Given the description of an element on the screen output the (x, y) to click on. 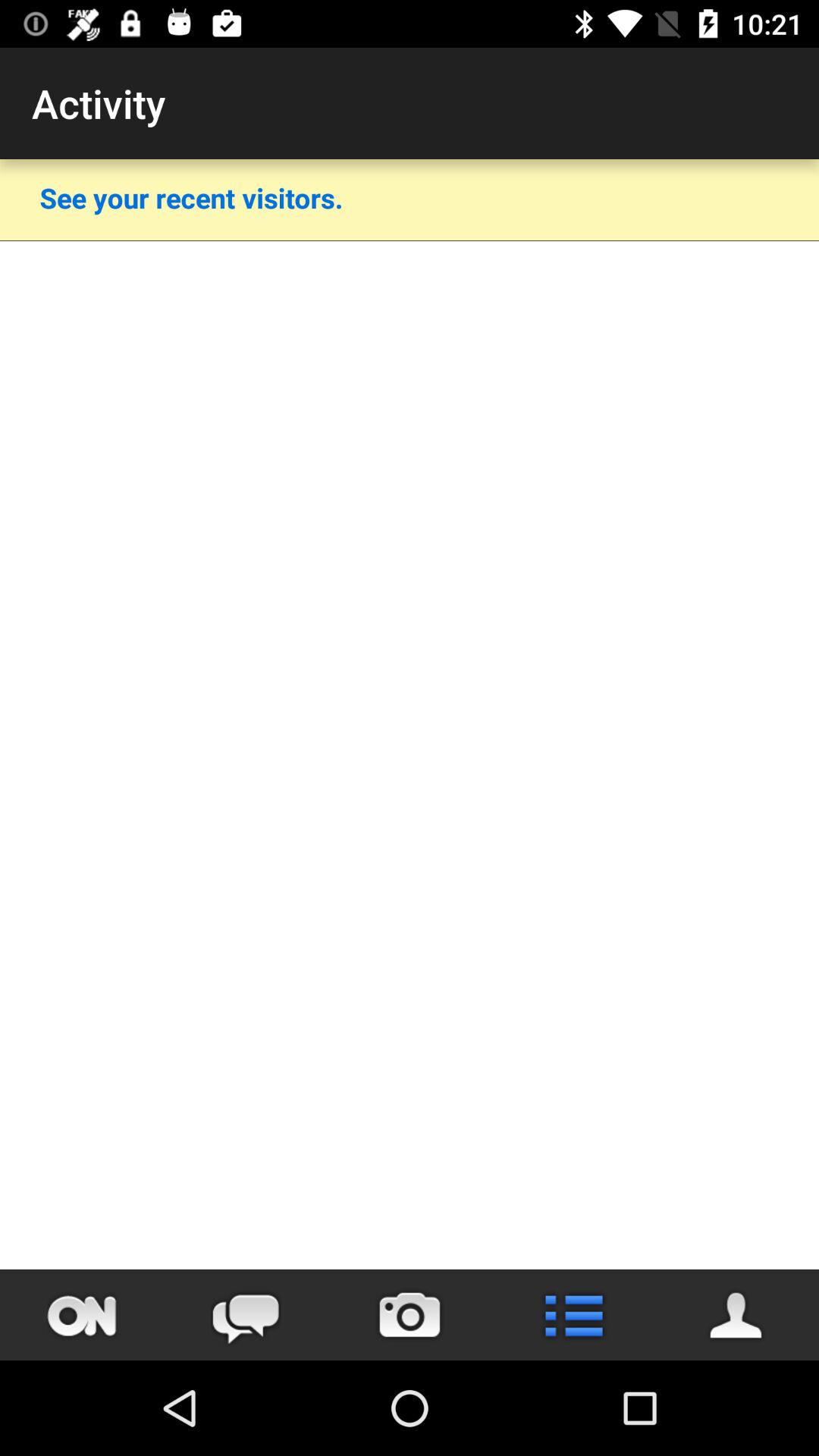
press the see your recent (190, 197)
